Given the description of an element on the screen output the (x, y) to click on. 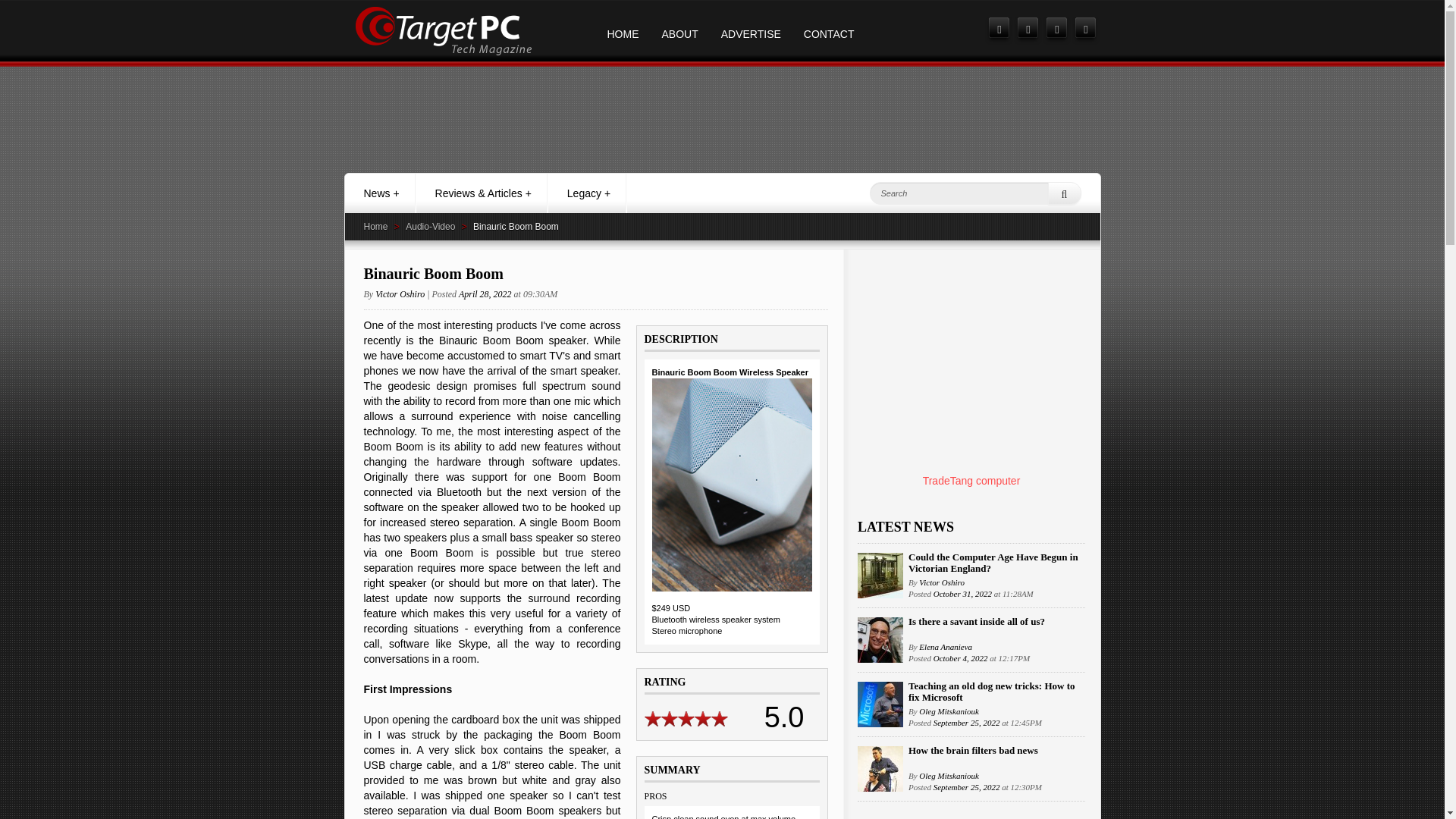
TradeTang computer (971, 480)
Could the Computer Age Have Begun in Victorian England? (993, 562)
CONTACT (829, 30)
Search (1064, 192)
Home (376, 226)
HOME (622, 30)
ADVERTISE (751, 30)
ABOUT (680, 30)
Audio-Video (430, 226)
How the brain filters bad news (973, 749)
Teaching an old dog new tricks: How to fix Microsoft (991, 691)
Is there a savant inside all of us? (976, 621)
